Given the description of an element on the screen output the (x, y) to click on. 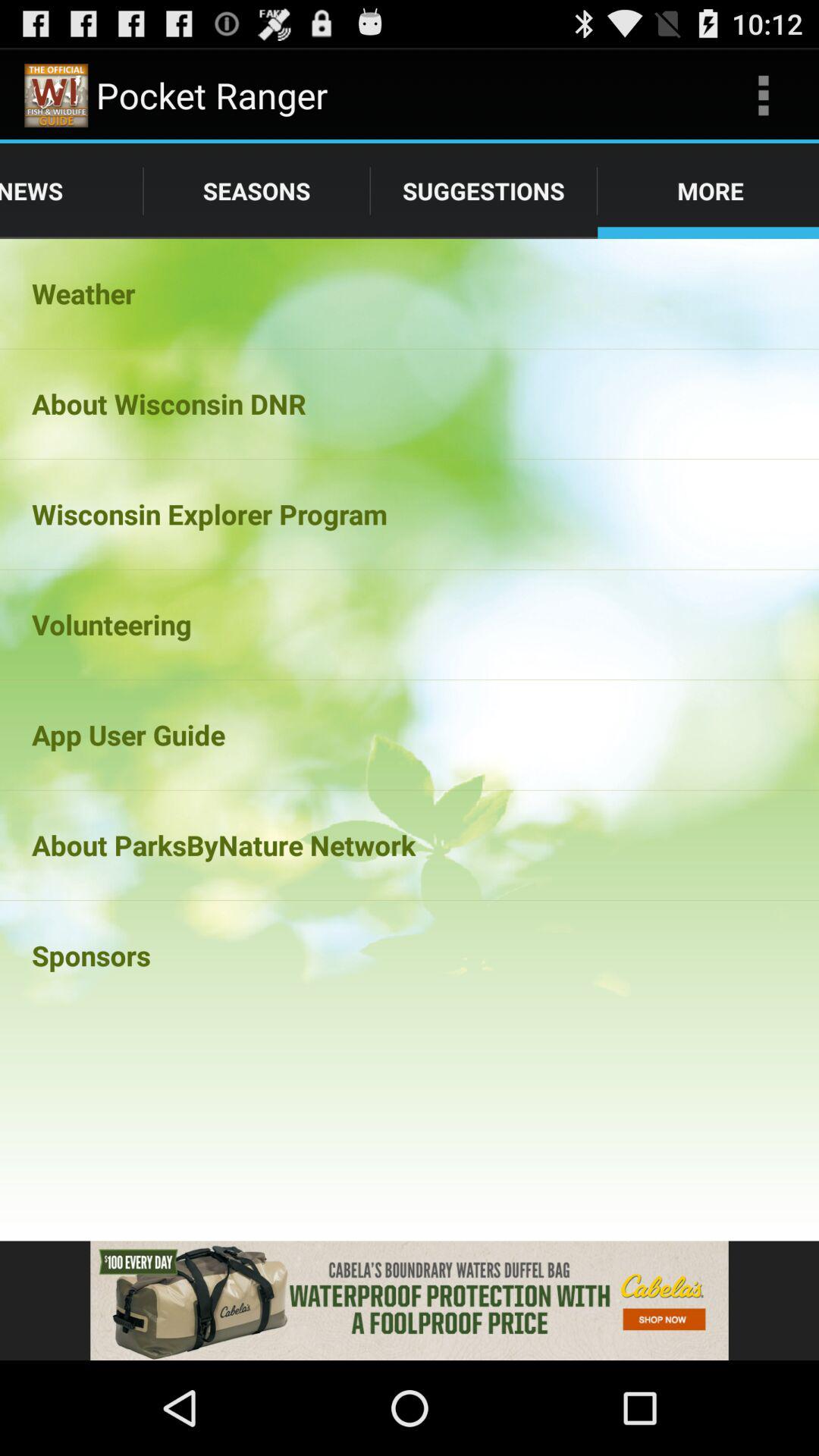
advert pop up (409, 1300)
